Given the description of an element on the screen output the (x, y) to click on. 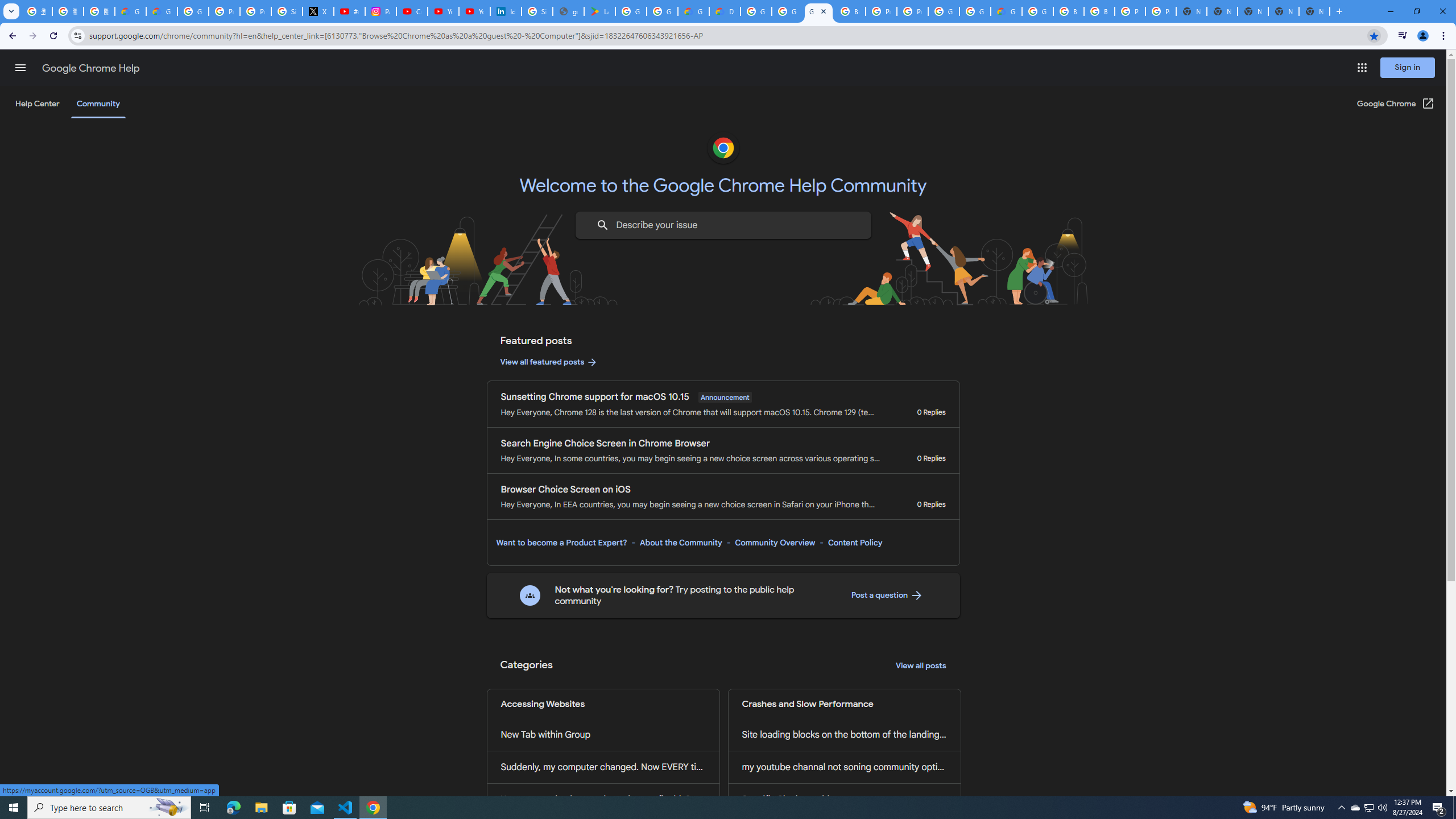
Google Cloud Platform (974, 11)
Post a question  (886, 595)
Community Overview (775, 542)
YouTube Culture & Trends - YouTube Top 10, 2021 (474, 11)
Google Cloud Privacy Notice (161, 11)
